Given the description of an element on the screen output the (x, y) to click on. 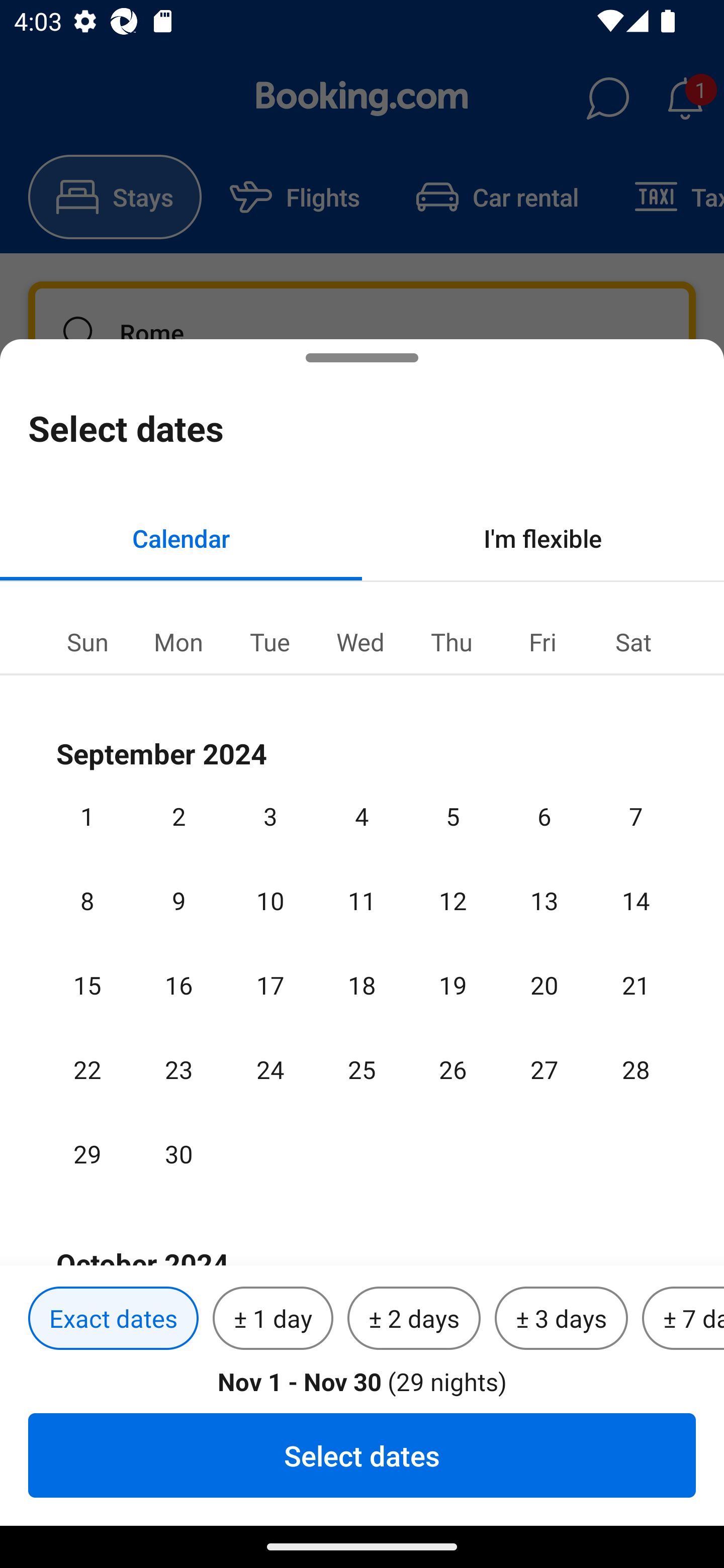
I'm flexible (543, 537)
Exact dates (113, 1318)
± 1 day (272, 1318)
± 2 days (413, 1318)
± 3 days (560, 1318)
± 7 days (683, 1318)
Select dates (361, 1454)
